Given the description of an element on the screen output the (x, y) to click on. 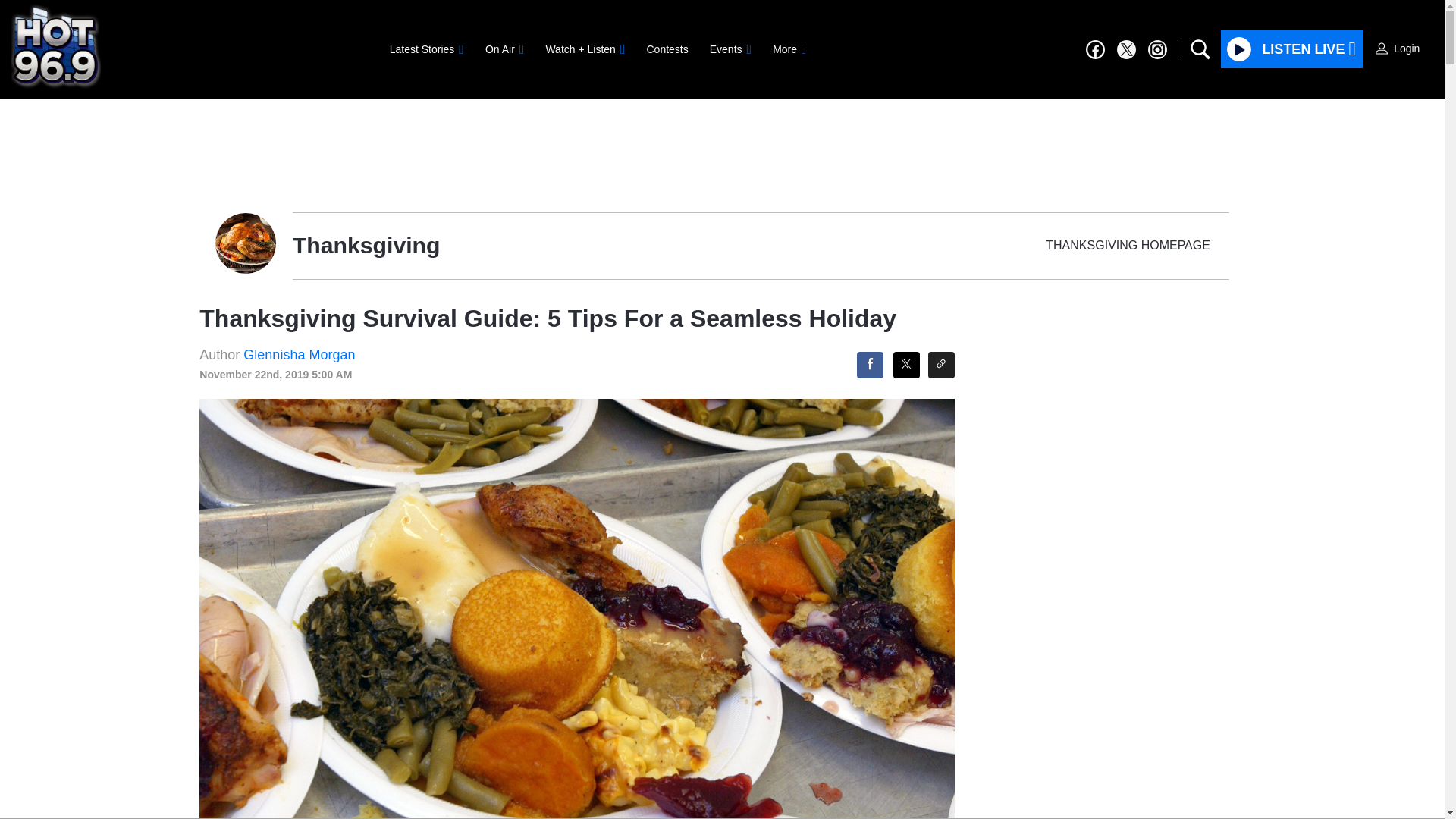
Events (729, 49)
Contests (666, 49)
Latest Stories (426, 49)
On Air (504, 49)
Glennisha Morgan (299, 354)
3rd party ad content (722, 147)
